Given the description of an element on the screen output the (x, y) to click on. 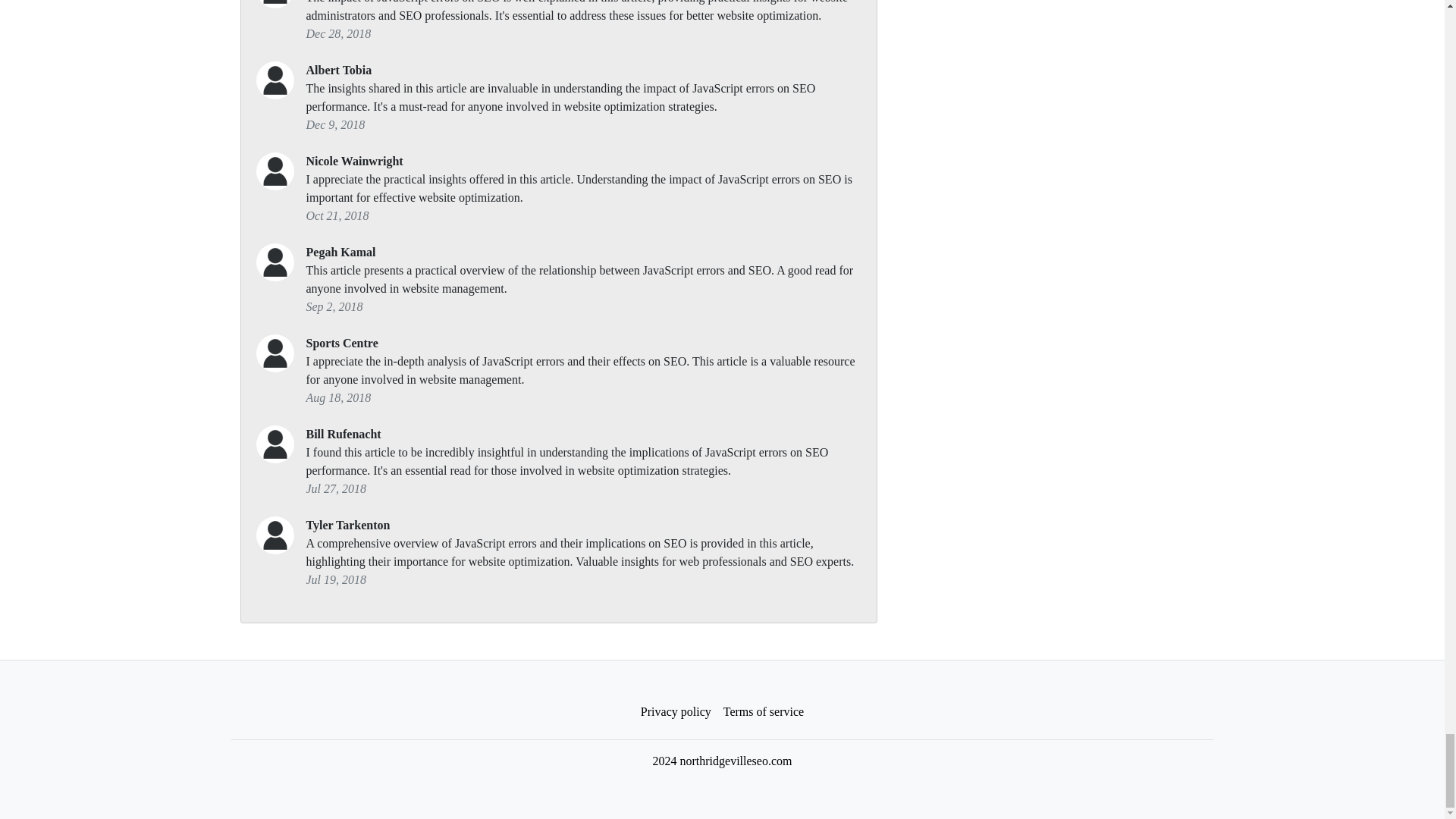
Privacy policy (675, 711)
Terms of service (763, 711)
